Given the description of an element on the screen output the (x, y) to click on. 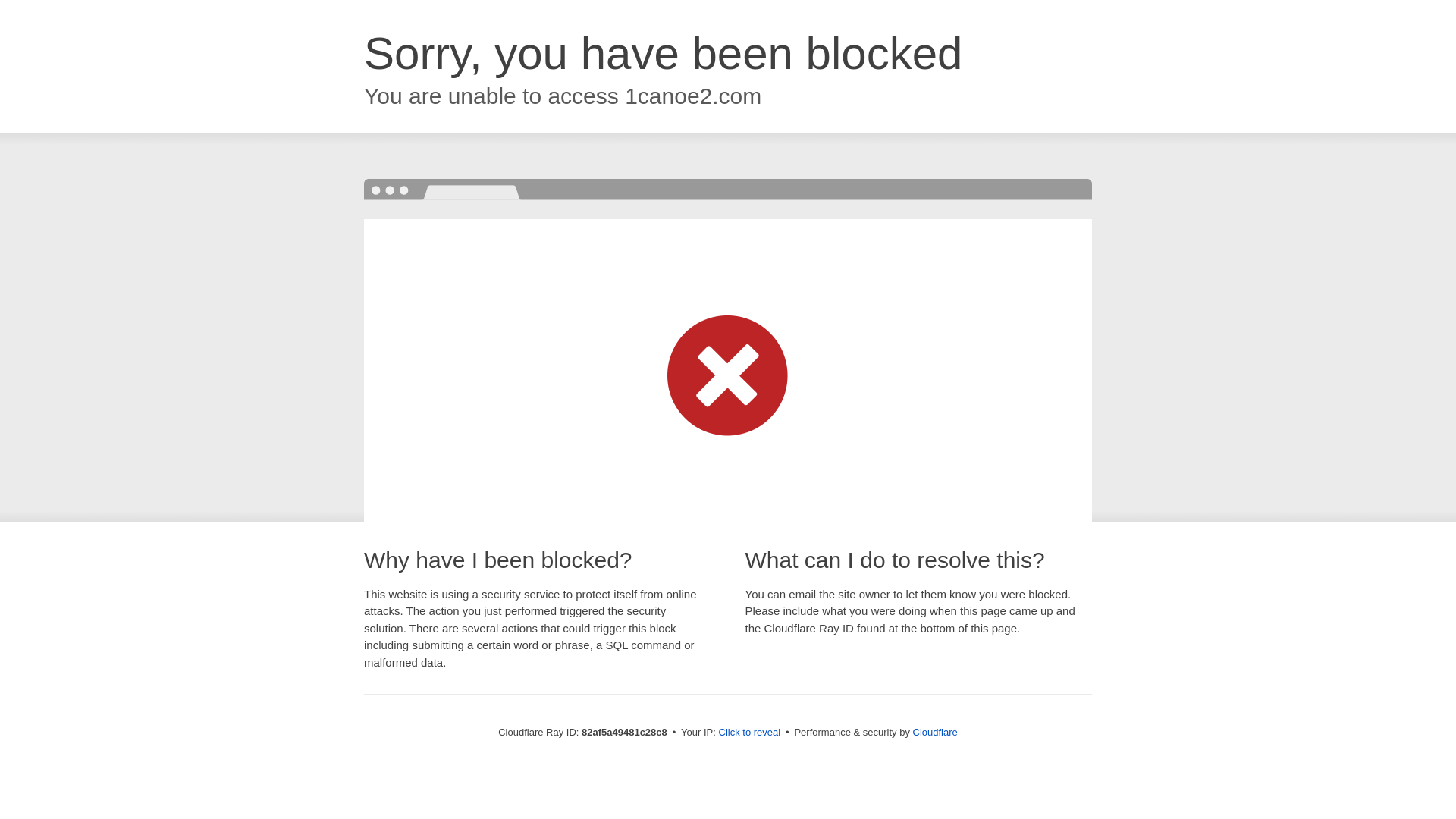
Cloudflare Element type: text (935, 731)
Click to reveal Element type: text (749, 732)
